Given the description of an element on the screen output the (x, y) to click on. 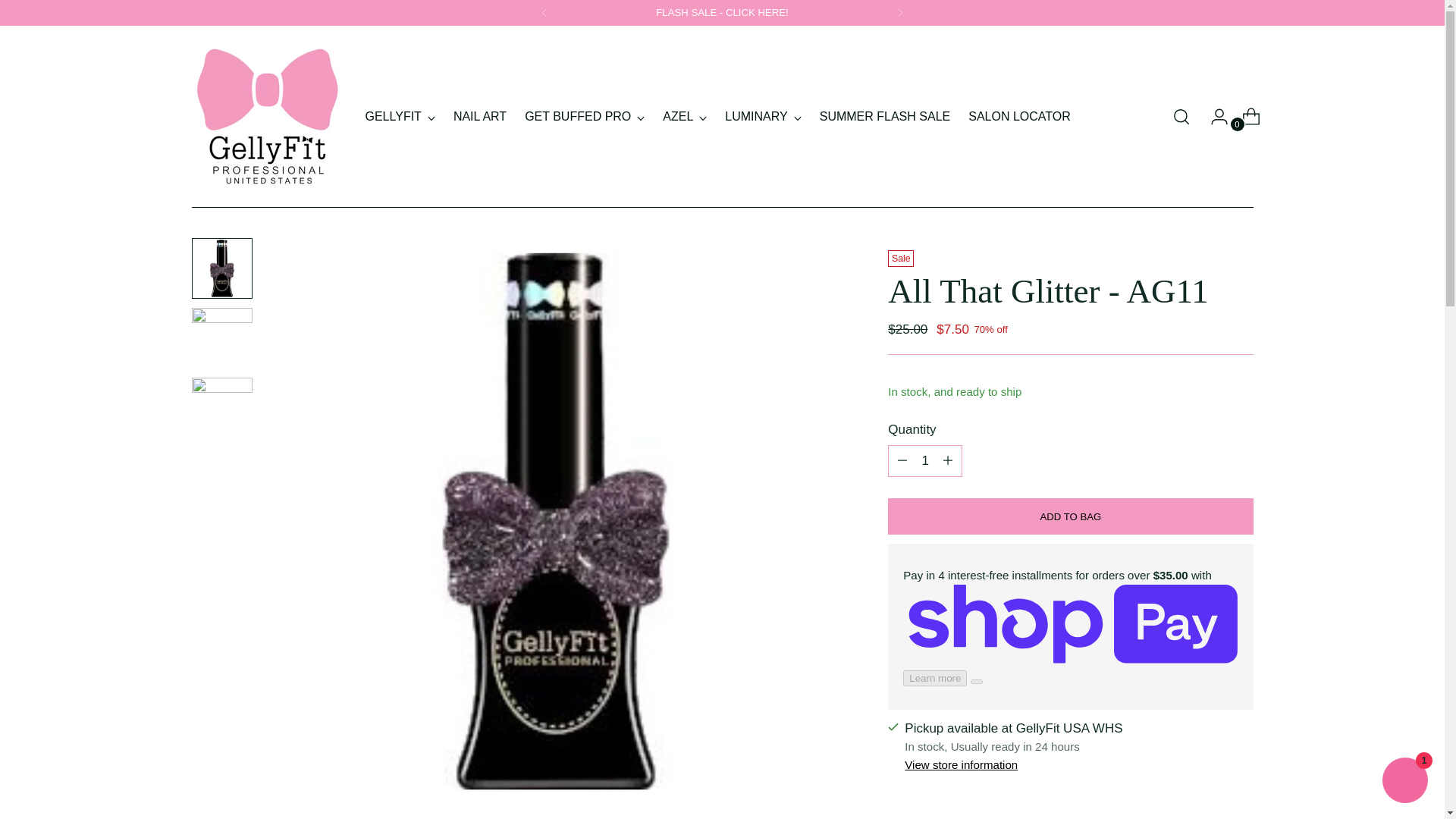
1 (925, 460)
FLASH SALE - CLICK HERE! (721, 12)
Shopify online store chat (1404, 781)
Next (900, 12)
GET BUFFED PRO (584, 116)
AZEL (684, 116)
NAIL ART (479, 116)
Previous (543, 12)
GELLYFIT (400, 116)
